Given the description of an element on the screen output the (x, y) to click on. 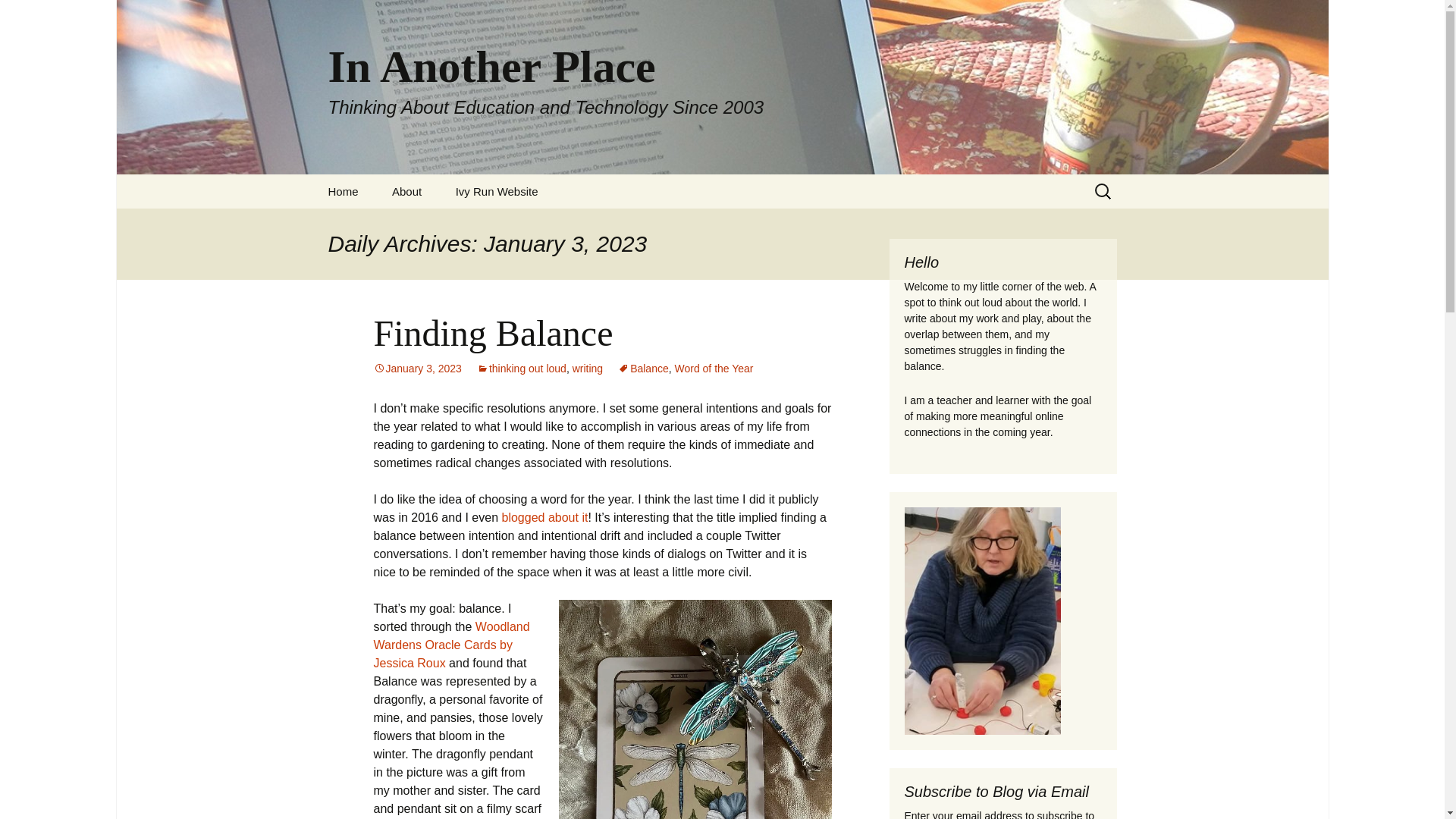
thinking out loud (521, 368)
Woodland Wardens Oracle Cards by Jessica Roux (450, 644)
Finding Balance (492, 332)
About (406, 191)
Permalink to Finding Balance (416, 368)
Balance (642, 368)
Search (18, 15)
Home (342, 191)
writing (587, 368)
Search (34, 15)
January 3, 2023 (416, 368)
Word of the Year (714, 368)
blogged about it (545, 517)
